Given the description of an element on the screen output the (x, y) to click on. 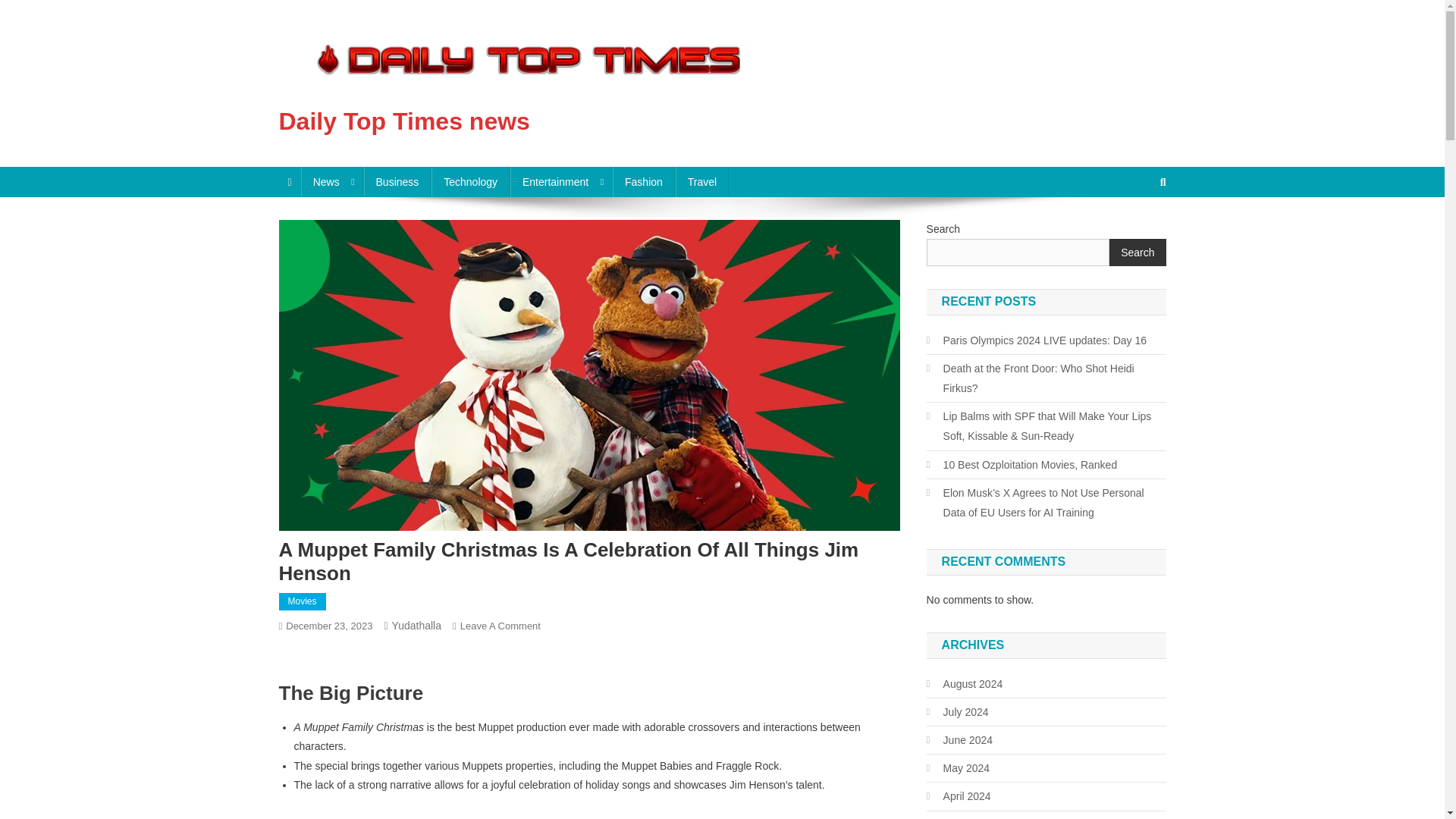
Entertainment (561, 182)
Movies (302, 601)
Technology (469, 182)
Travel (702, 182)
December 23, 2023 (328, 625)
Fashion (643, 182)
Business (397, 182)
Search (1133, 232)
Yudathalla (416, 625)
